Given the description of an element on the screen output the (x, y) to click on. 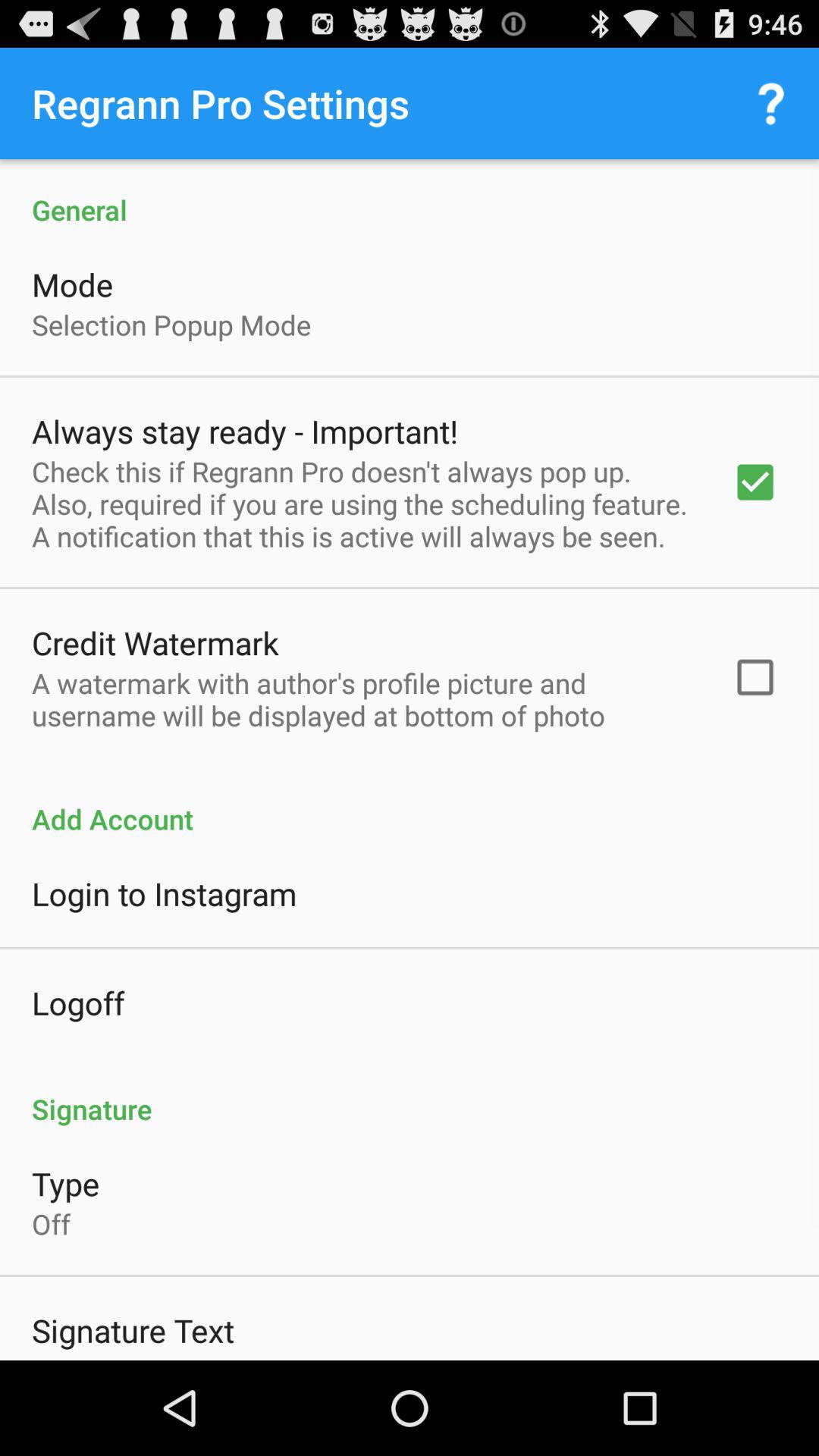
scroll until the login to instagram (163, 893)
